Given the description of an element on the screen output the (x, y) to click on. 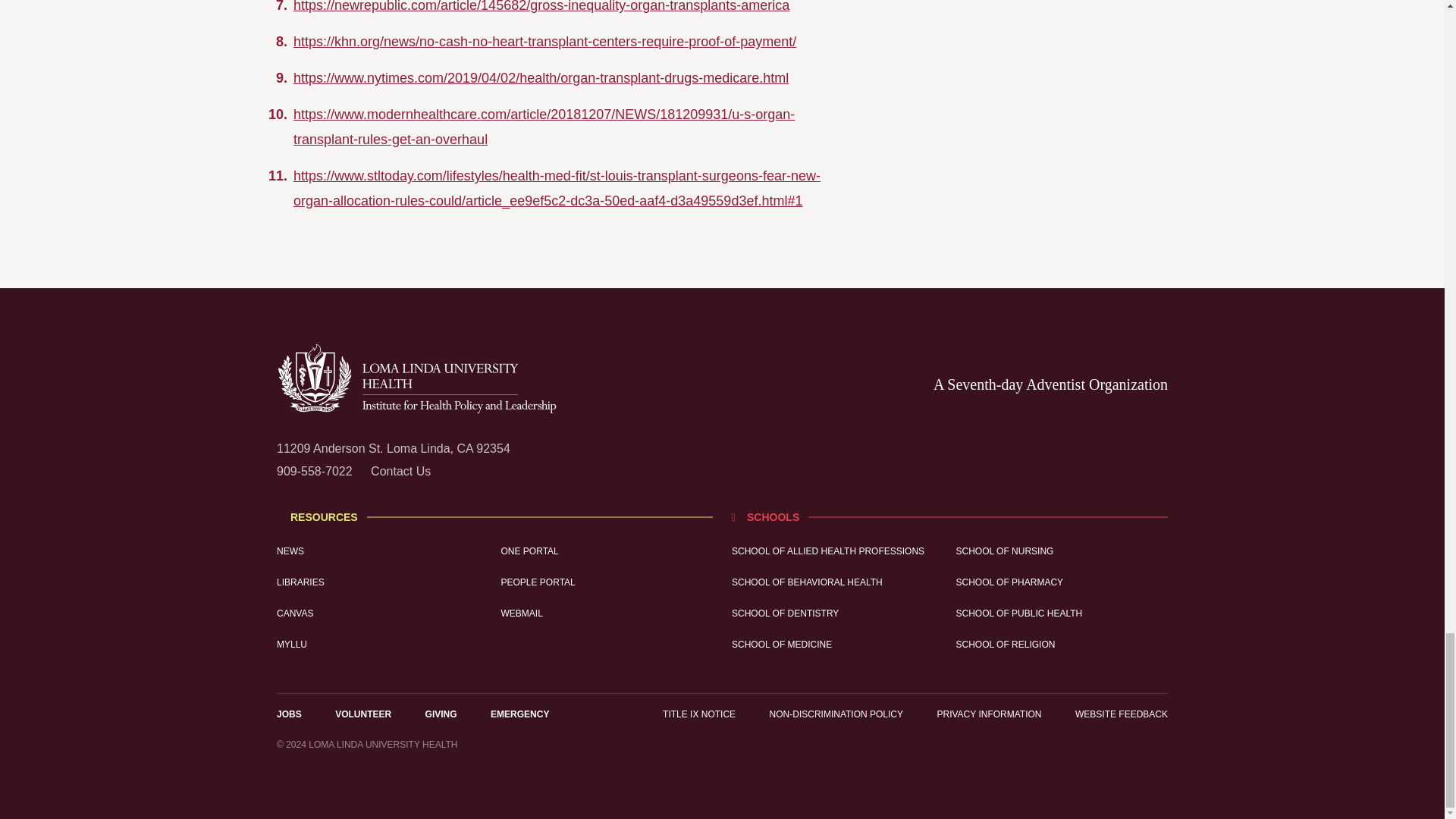
NEWS (382, 551)
LIBRARIES (382, 582)
Contact Us (400, 471)
909-558-7022 (314, 471)
